Given the description of an element on the screen output the (x, y) to click on. 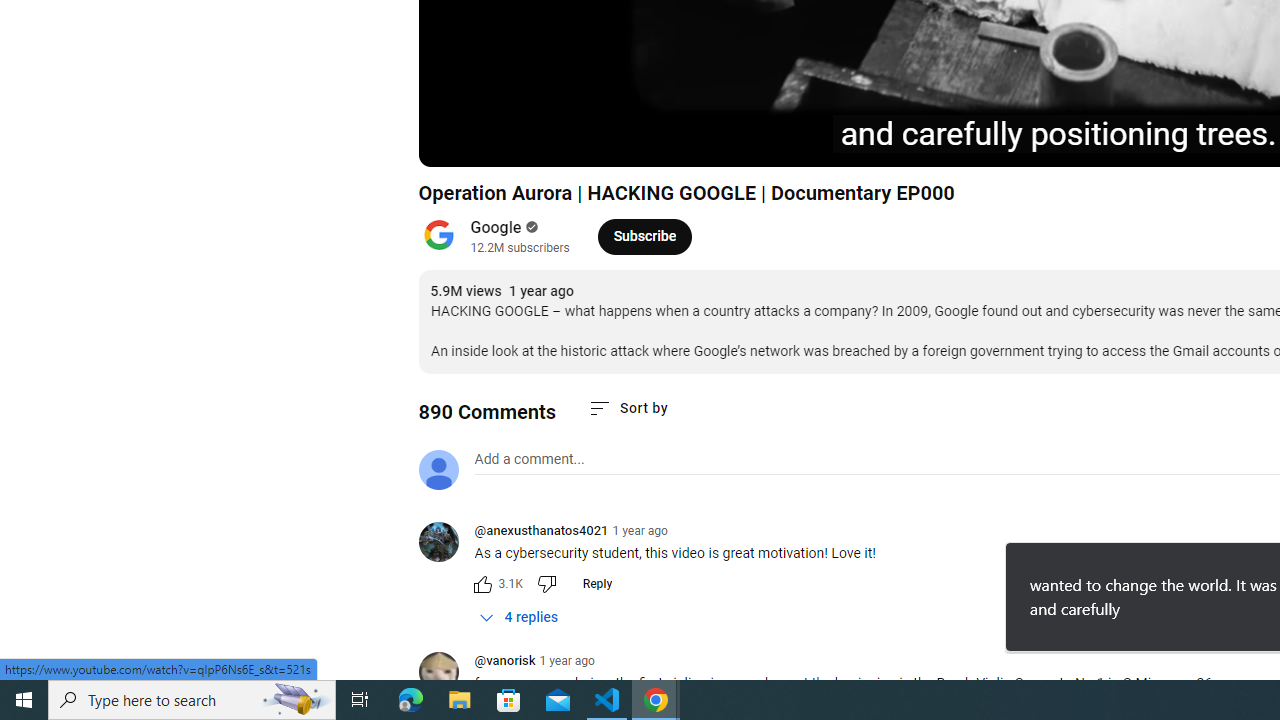
@anexusthanatos4021 (541, 532)
@vanorisk (446, 673)
Dislike this comment (546, 583)
